Given the description of an element on the screen output the (x, y) to click on. 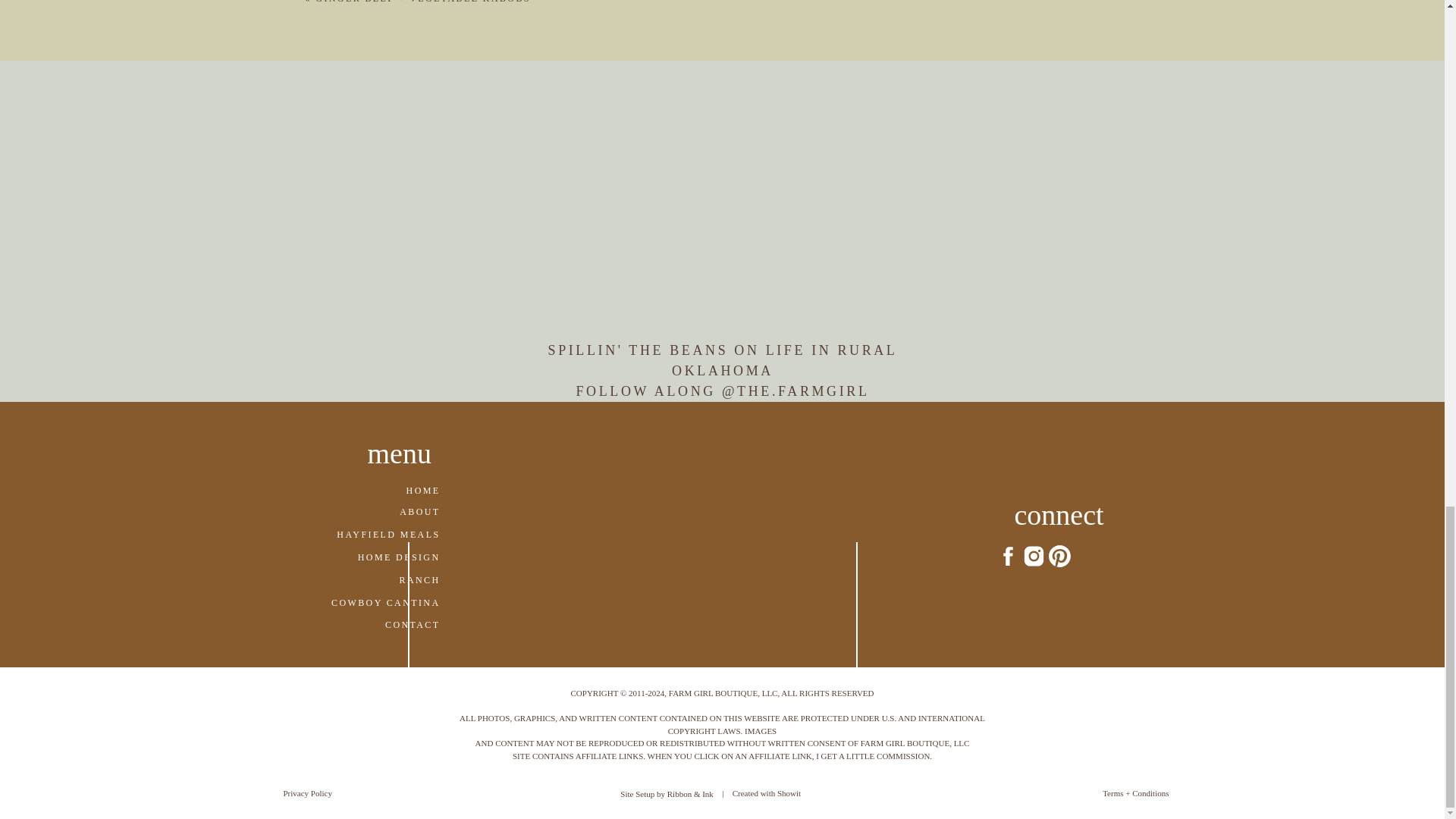
Post Comment (476, 256)
